Given the description of an element on the screen output the (x, y) to click on. 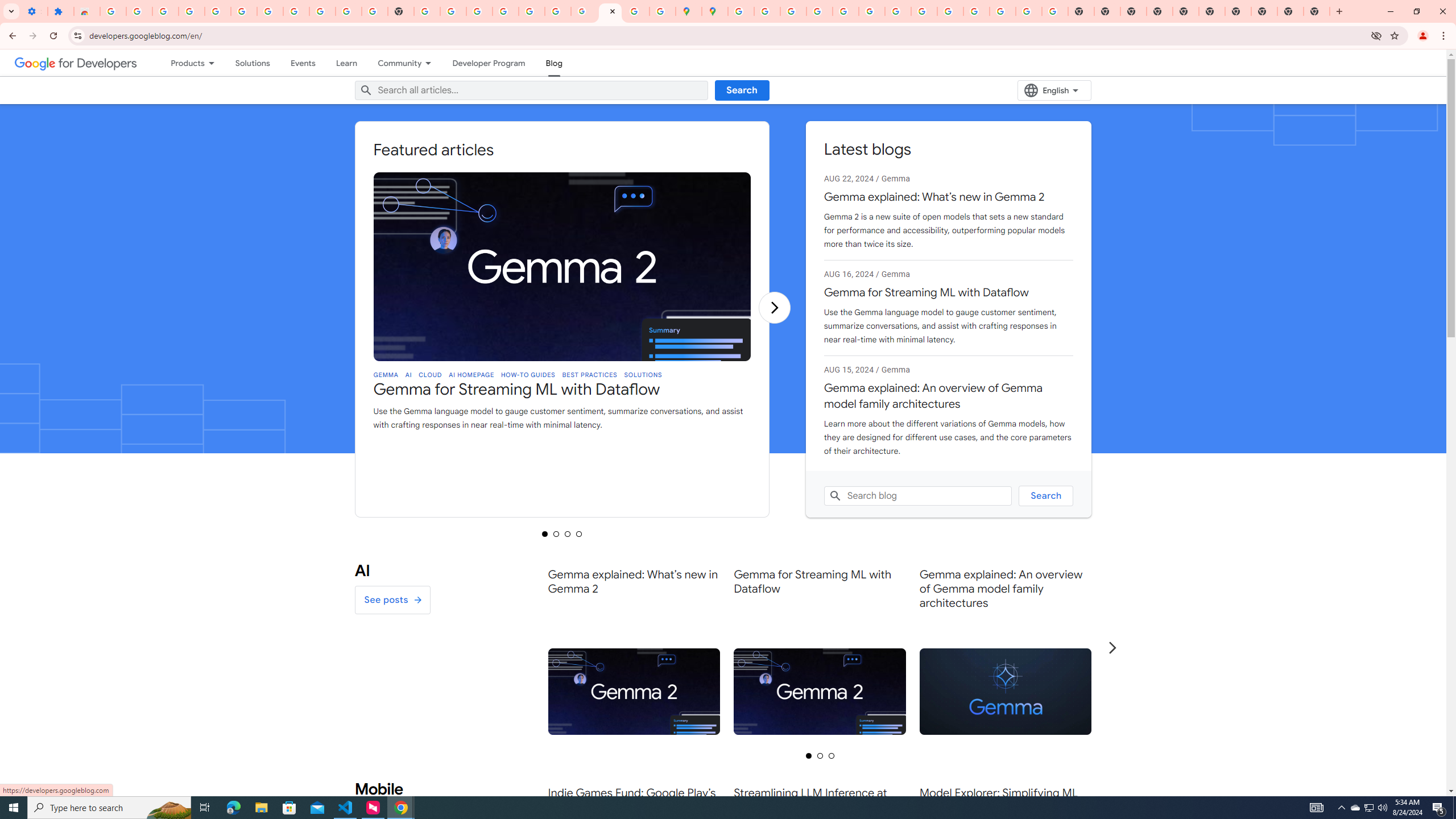
Products (182, 62)
Selected tab 1 of 3 (807, 755)
